Given the description of an element on the screen output the (x, y) to click on. 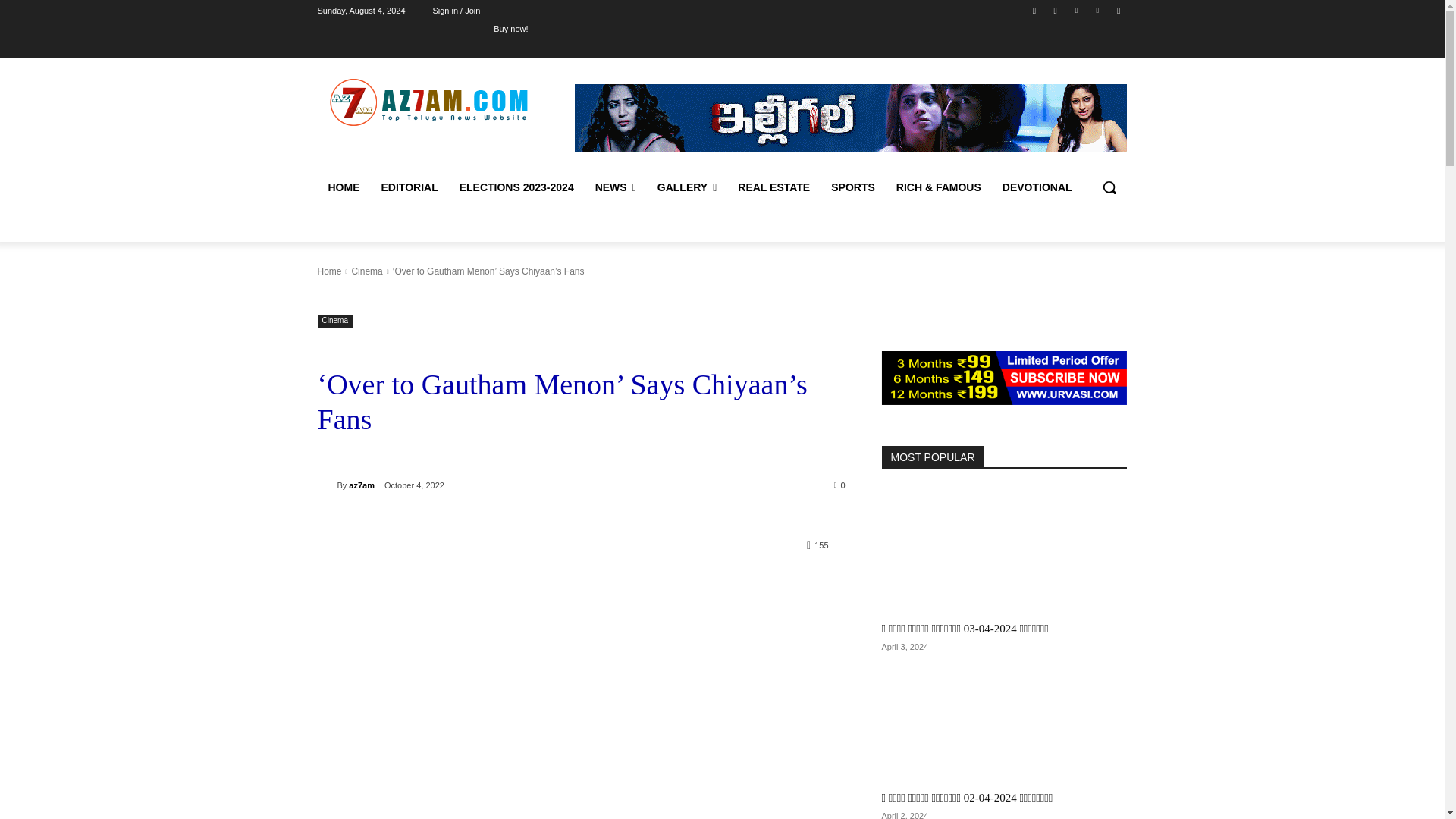
Vimeo (1097, 9)
NEWS (615, 186)
Youtube (1117, 9)
Twitter (1075, 9)
EDITORIAL (408, 186)
Buy now! (510, 28)
Instagram (1055, 9)
Facebook (1034, 9)
GALLERY (687, 186)
HOME (343, 186)
View all posts in Cinema (365, 271)
ELECTIONS 2023-2024 (516, 186)
